Given the description of an element on the screen output the (x, y) to click on. 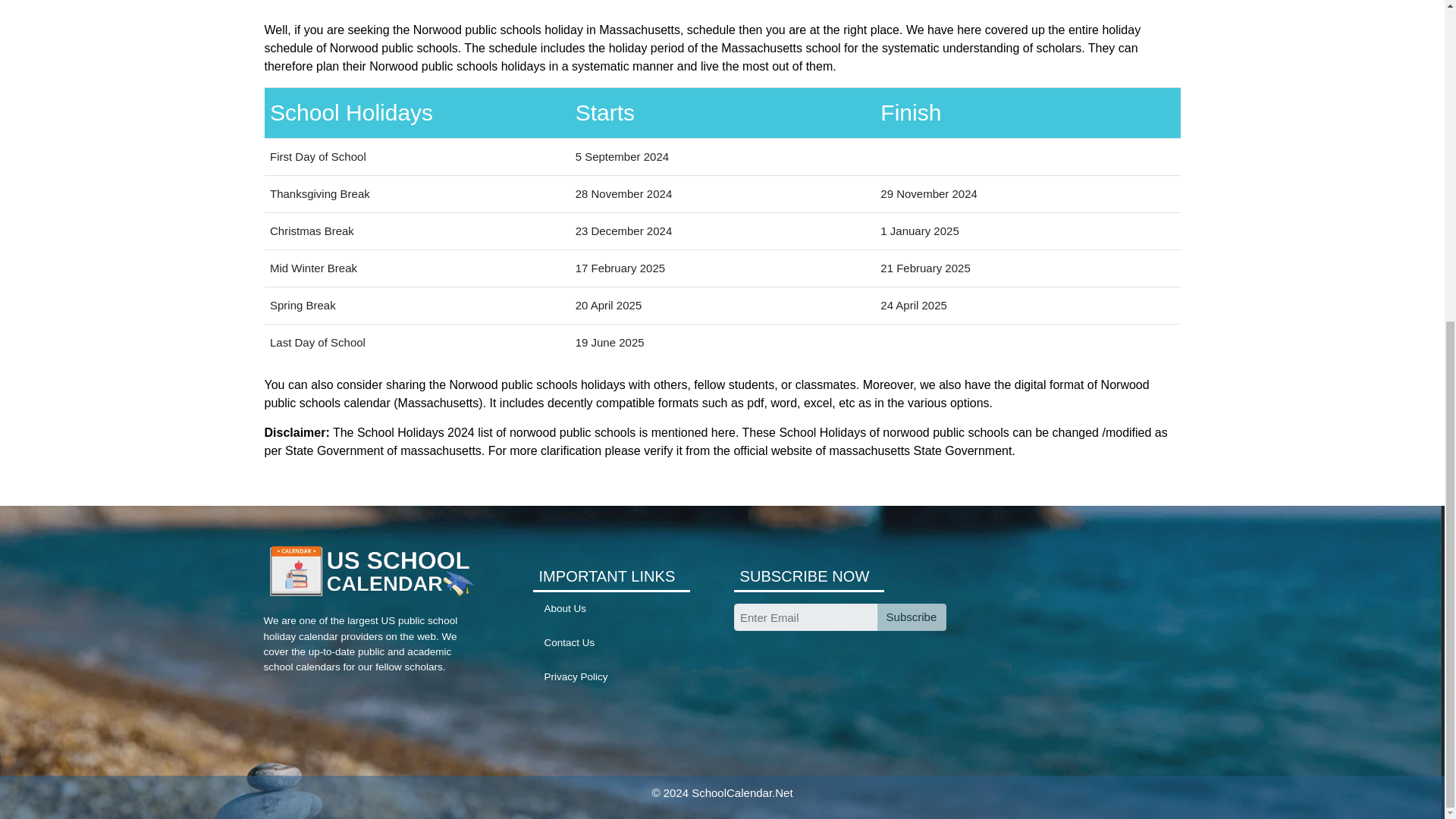
Contact Us (569, 642)
Privacy Policy (576, 676)
About Us (565, 608)
Subscribe (910, 616)
